Given the description of an element on the screen output the (x, y) to click on. 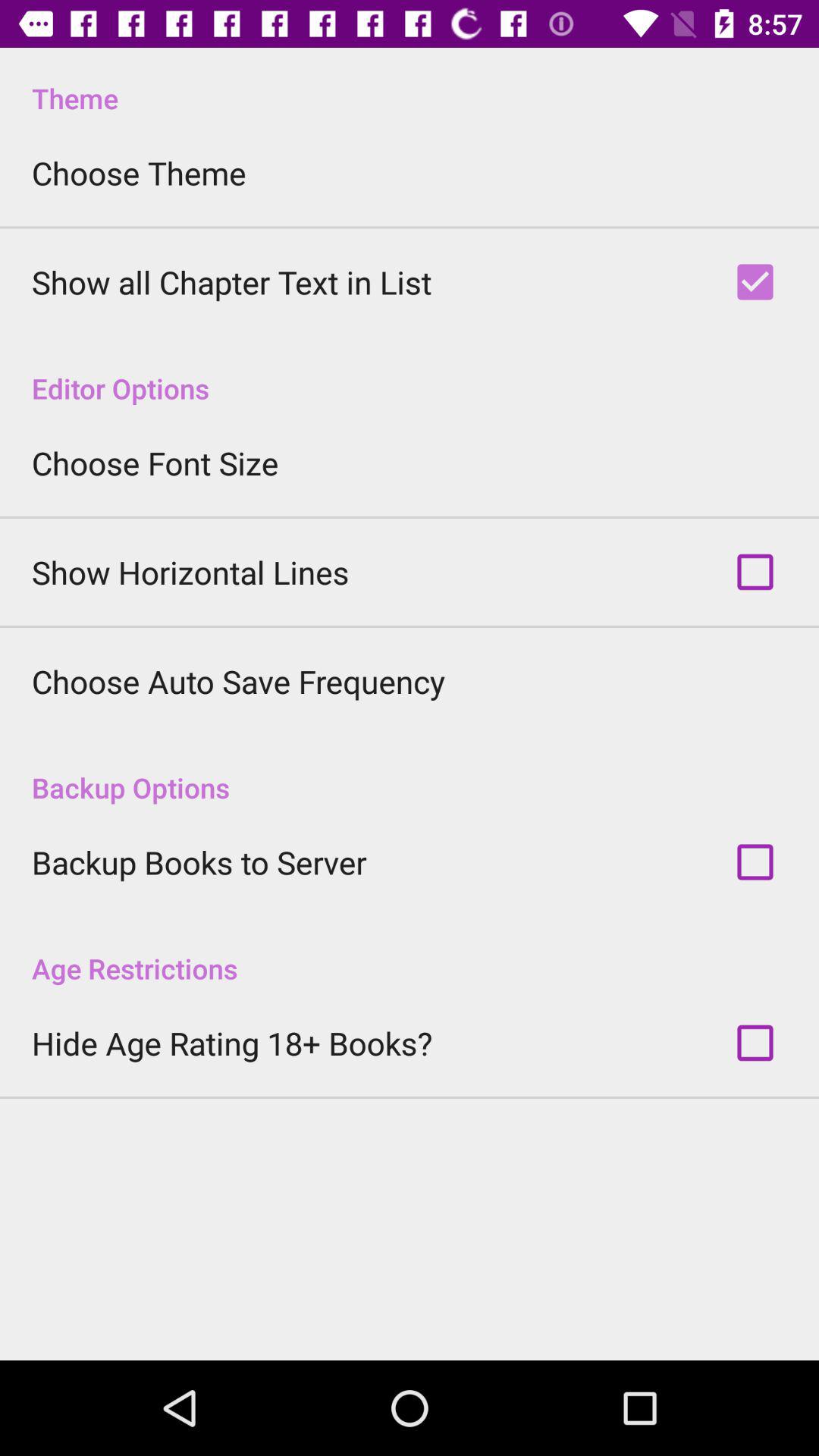
press the item at the bottom left corner (231, 1042)
